Given the description of an element on the screen output the (x, y) to click on. 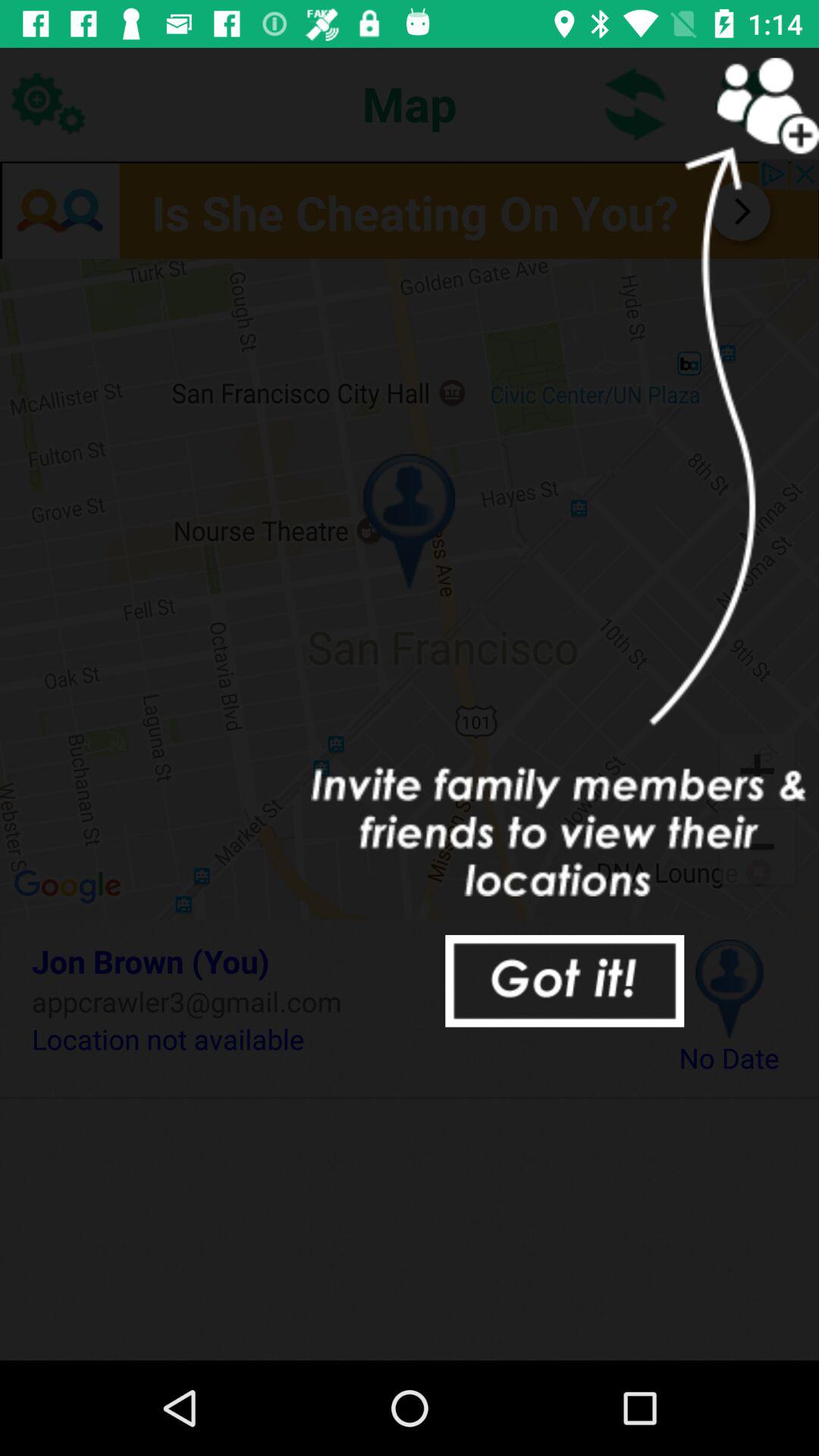
swipe to location not available item (332, 1038)
